Given the description of an element on the screen output the (x, y) to click on. 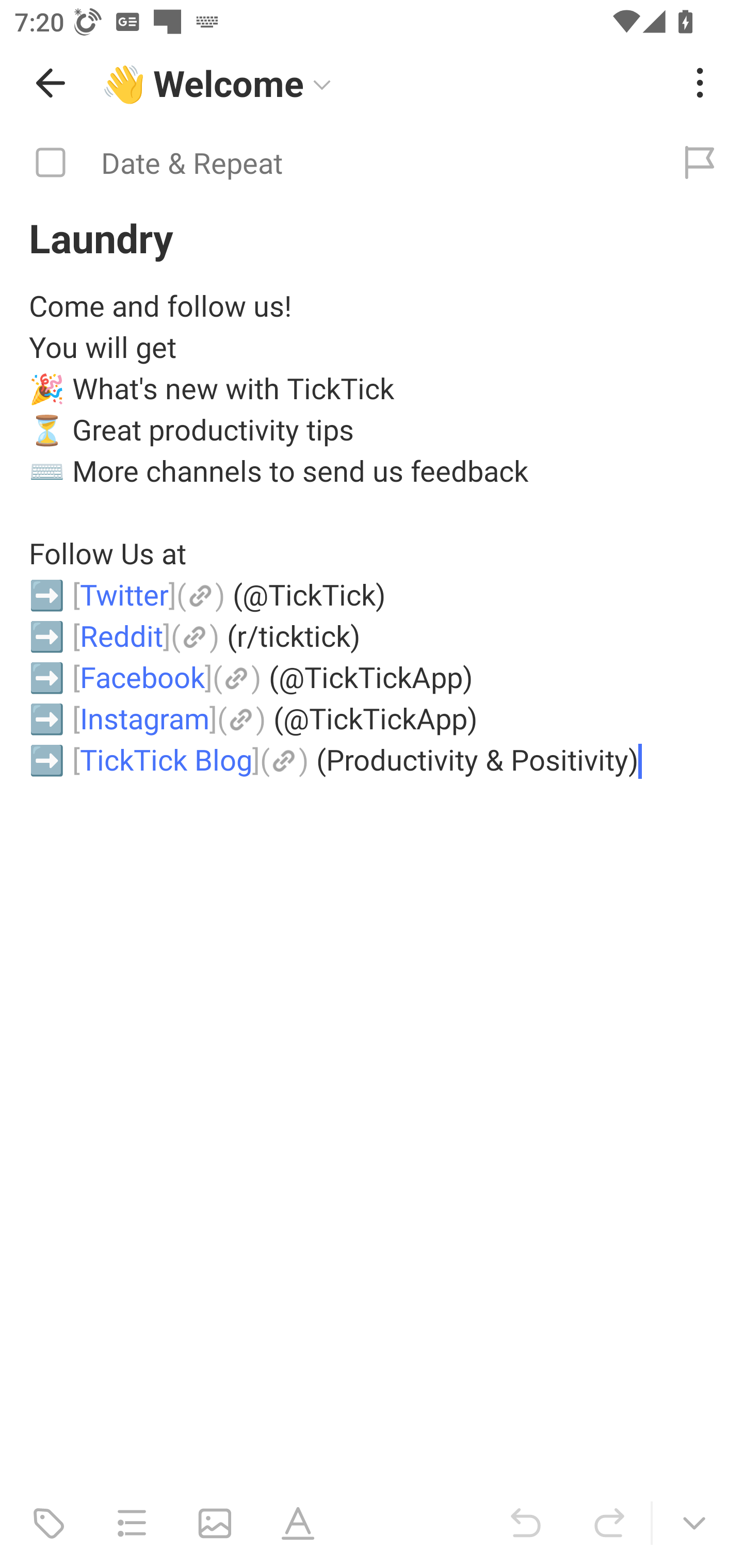
👋 Welcome (384, 82)
Date & Repeat (328, 163)
Laundry (371, 237)
